Given the description of an element on the screen output the (x, y) to click on. 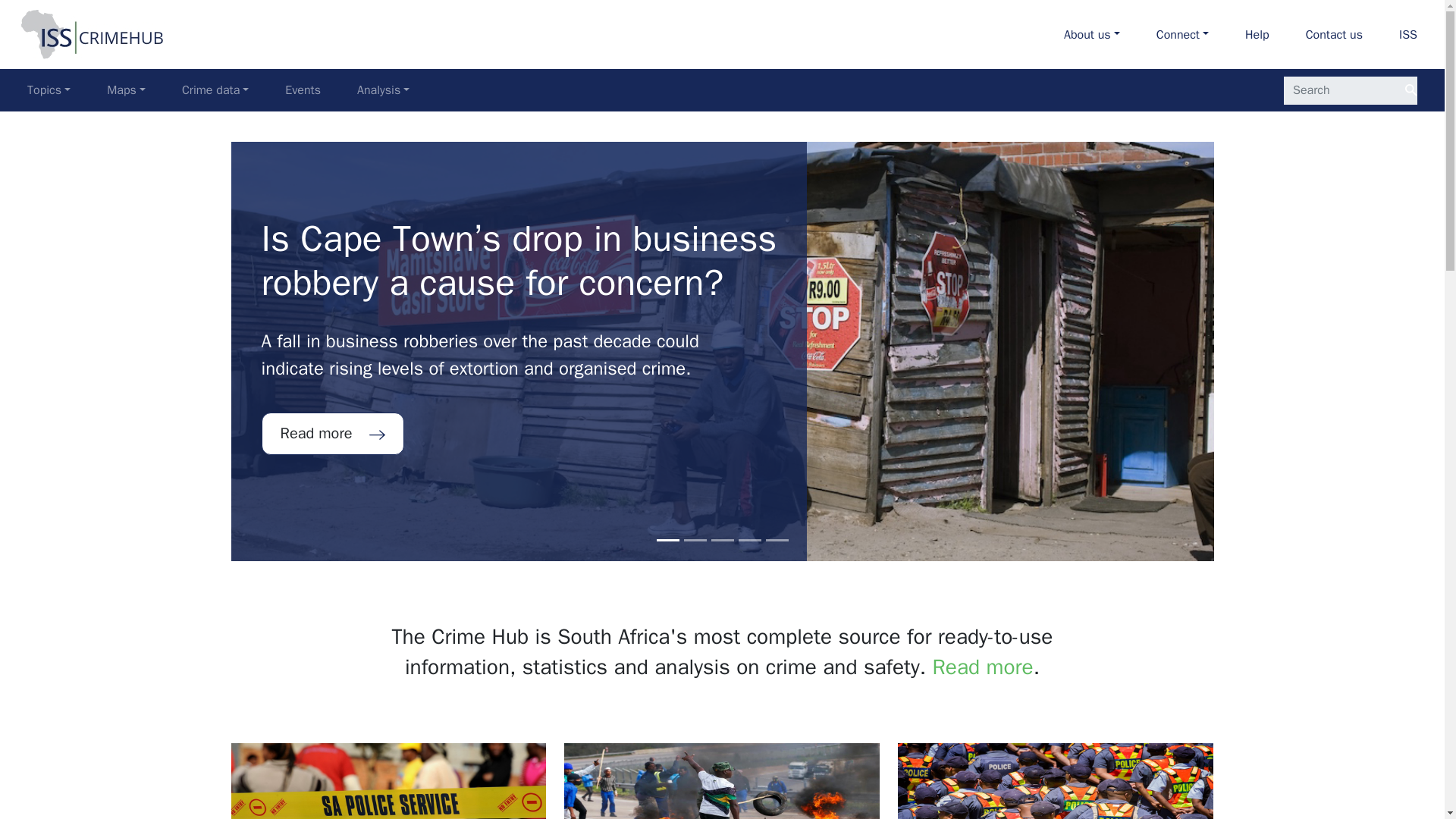
Help (1257, 34)
Topics (48, 90)
Maps (125, 90)
Analysis (218, 90)
Crime data (383, 90)
Contact us (214, 90)
ISS (1333, 34)
About us (1407, 34)
Events (1091, 34)
Connect (302, 90)
